Given the description of an element on the screen output the (x, y) to click on. 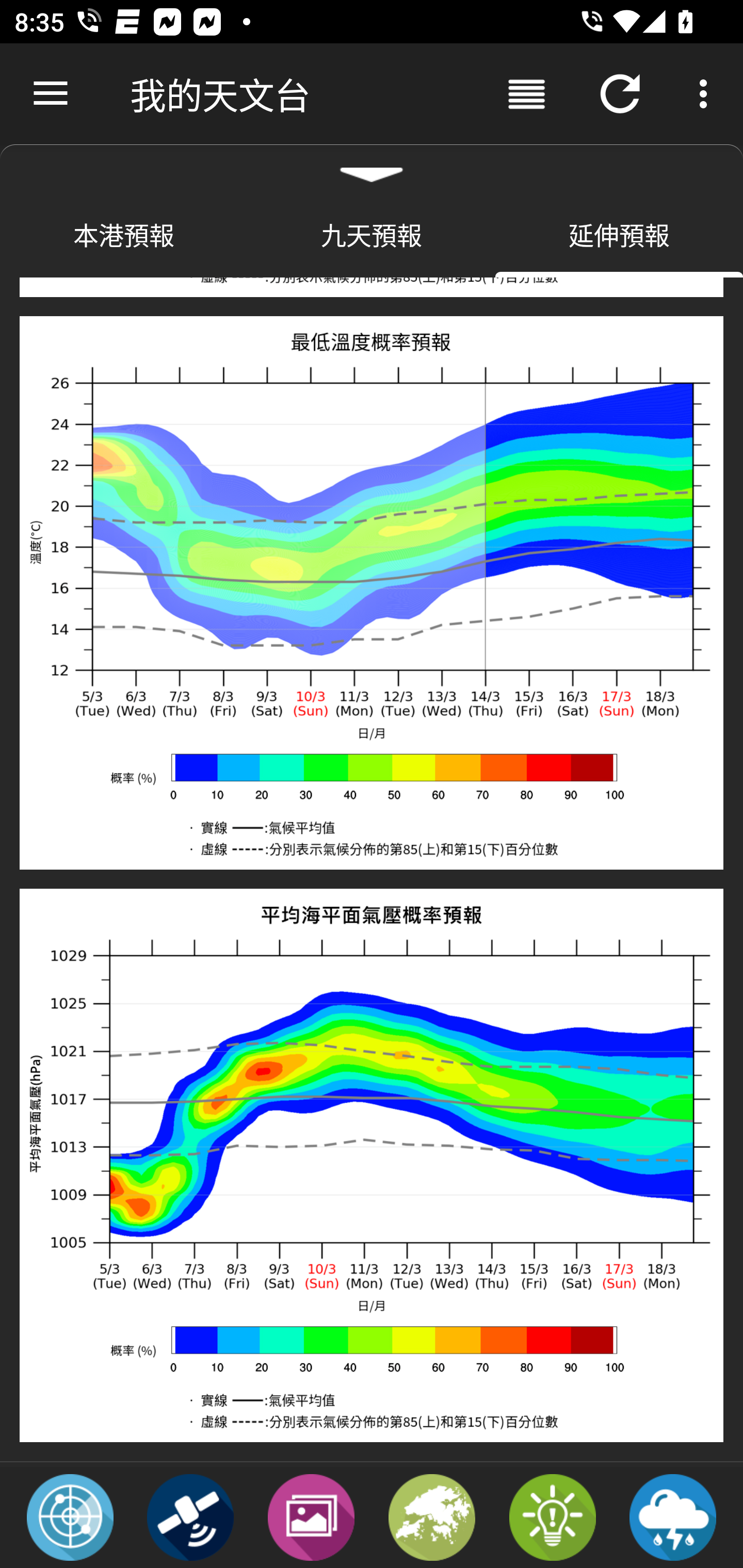
向上瀏覽 (50, 93)
直向佈局 (525, 93)
重新整理 (619, 93)
更多選項 (706, 93)
隱藏 (371, 167)
本港預報 (123, 234)
九天預報 (371, 234)
雷達圖像 (69, 1516)
衛星圖像 (190, 1516)
天氣照片 (310, 1516)
分區天氣 (431, 1516)
天氣提示 (551, 1516)
定點降雨及閃電預報 (672, 1516)
